Given the description of an element on the screen output the (x, y) to click on. 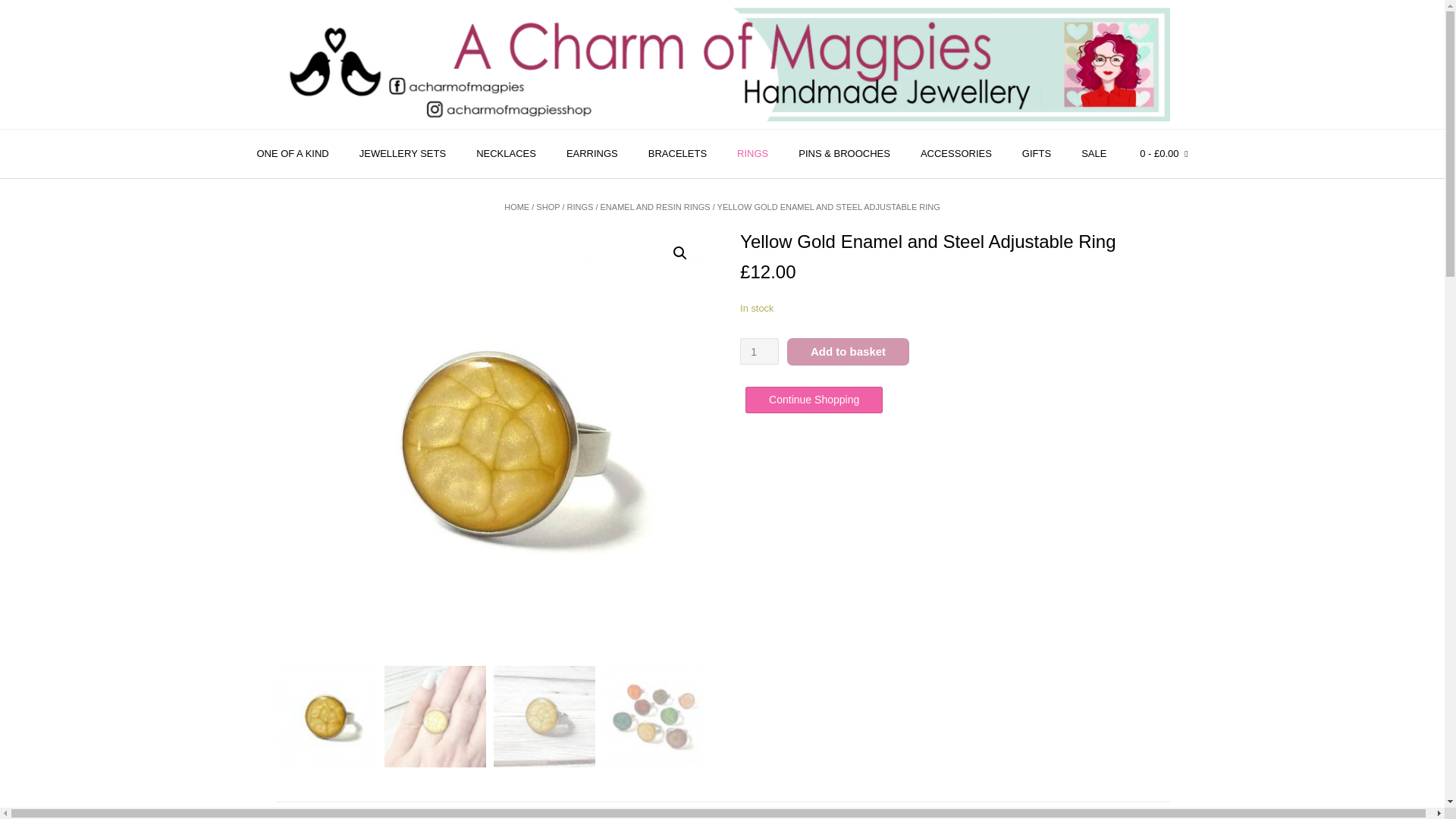
NECKLACES (506, 154)
BRACELETS (677, 154)
EARRINGS (592, 154)
JEWELLERY SETS (402, 154)
A Charm of Magpies Handmade Jewellery (722, 64)
ONE OF A KIND (292, 154)
1 (758, 351)
View your shopping cart (1163, 154)
